Given the description of an element on the screen output the (x, y) to click on. 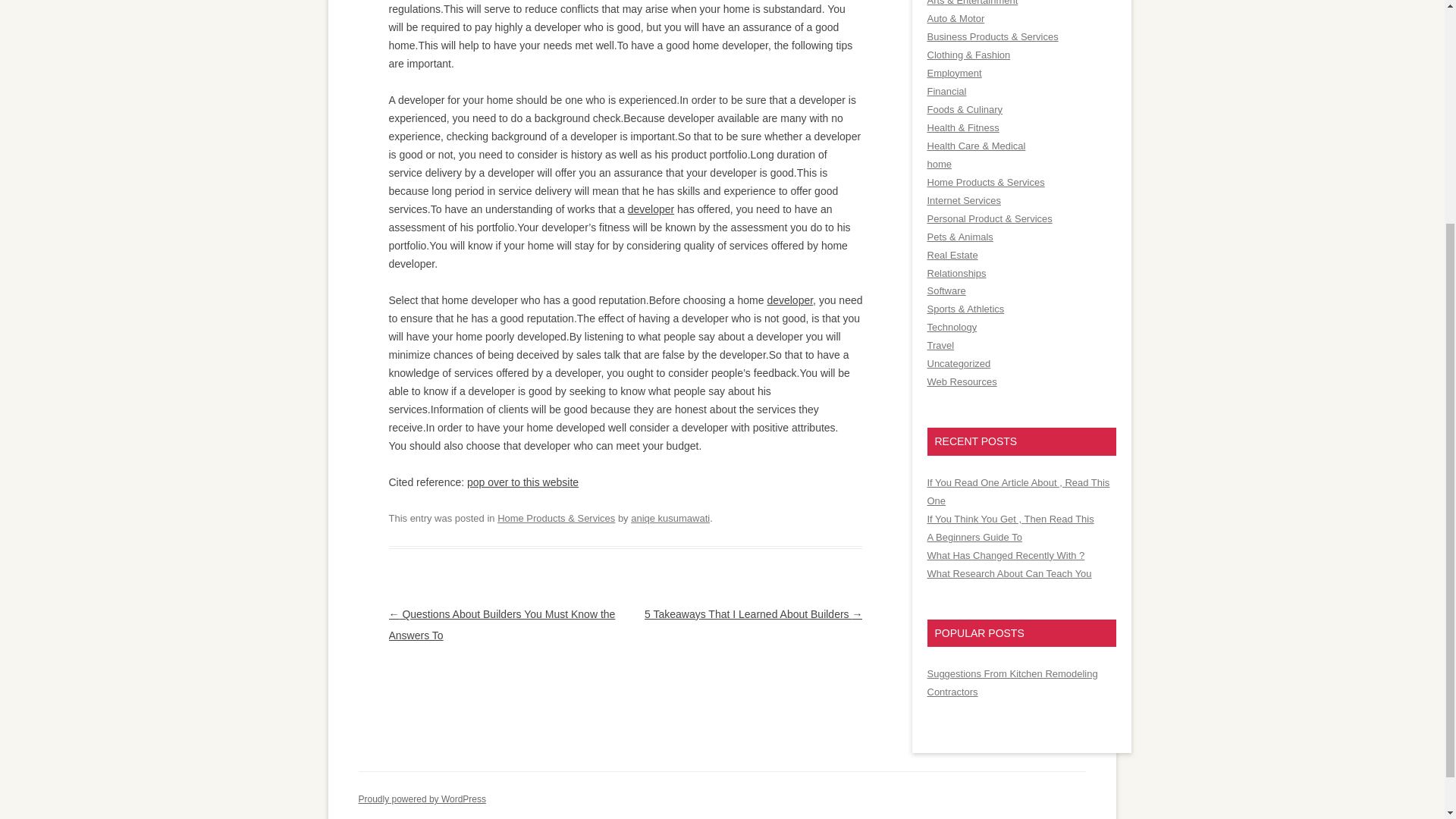
Suggestions From Kitchen Remodeling Contractors (1011, 682)
A Beginners Guide To (974, 536)
Semantic Personal Publishing Platform (422, 798)
Relationships (955, 273)
Web Resources (960, 381)
Employment (953, 72)
If You Read One Article About , Read This One (1017, 491)
developer (789, 300)
Software (945, 290)
Uncategorized (958, 363)
